Given the description of an element on the screen output the (x, y) to click on. 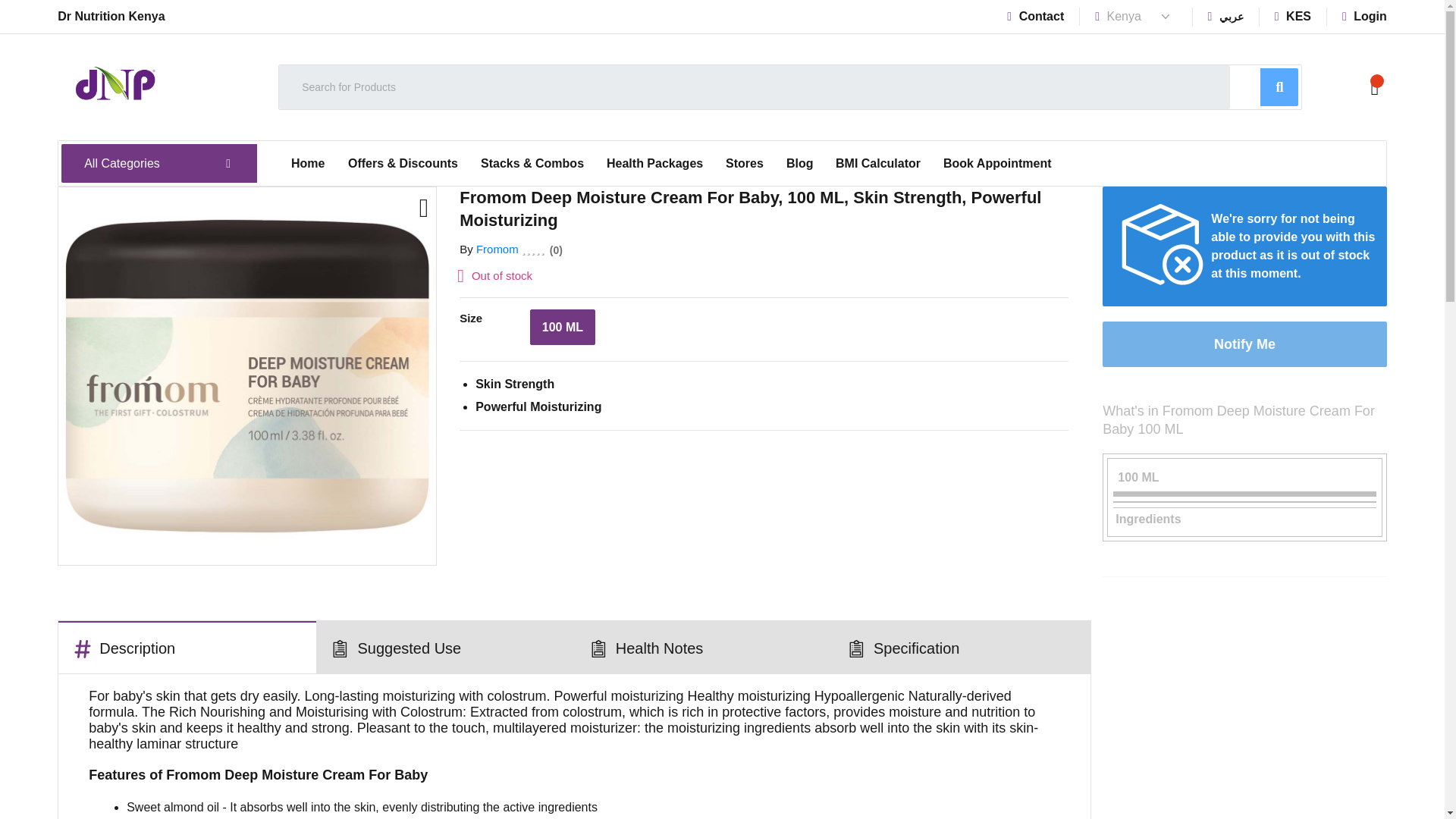
KES (1293, 16)
KES (1293, 16)
Home (307, 163)
Stores (744, 163)
Health Packages (654, 163)
Login (1364, 16)
Contact (1035, 16)
Login (1364, 16)
Contact (1035, 16)
